Given the description of an element on the screen output the (x, y) to click on. 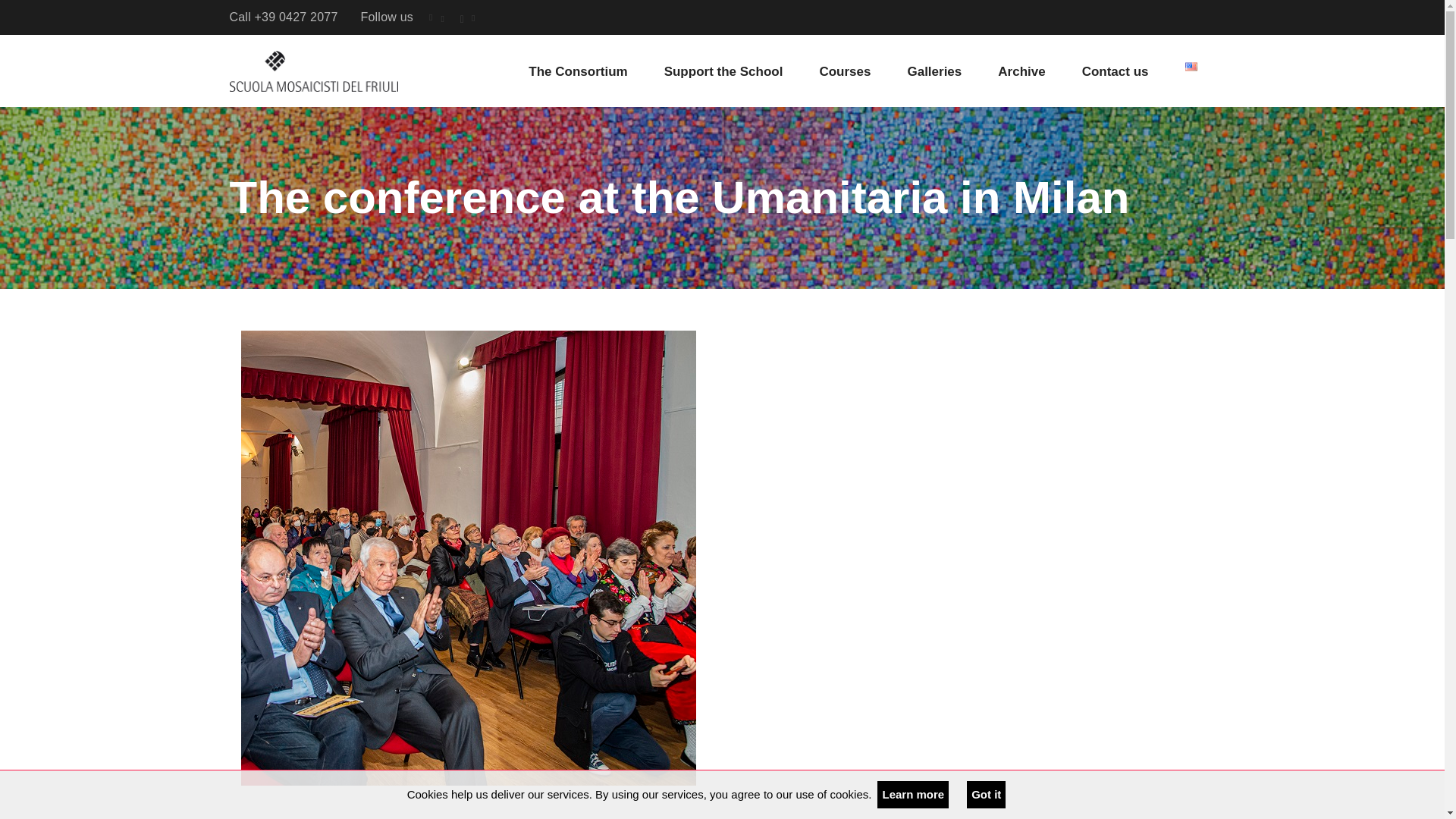
Galleries (933, 71)
Support the School (724, 71)
Courses (844, 71)
Archive (1020, 71)
The Consortium (578, 71)
Contact us (1115, 71)
